Given the description of an element on the screen output the (x, y) to click on. 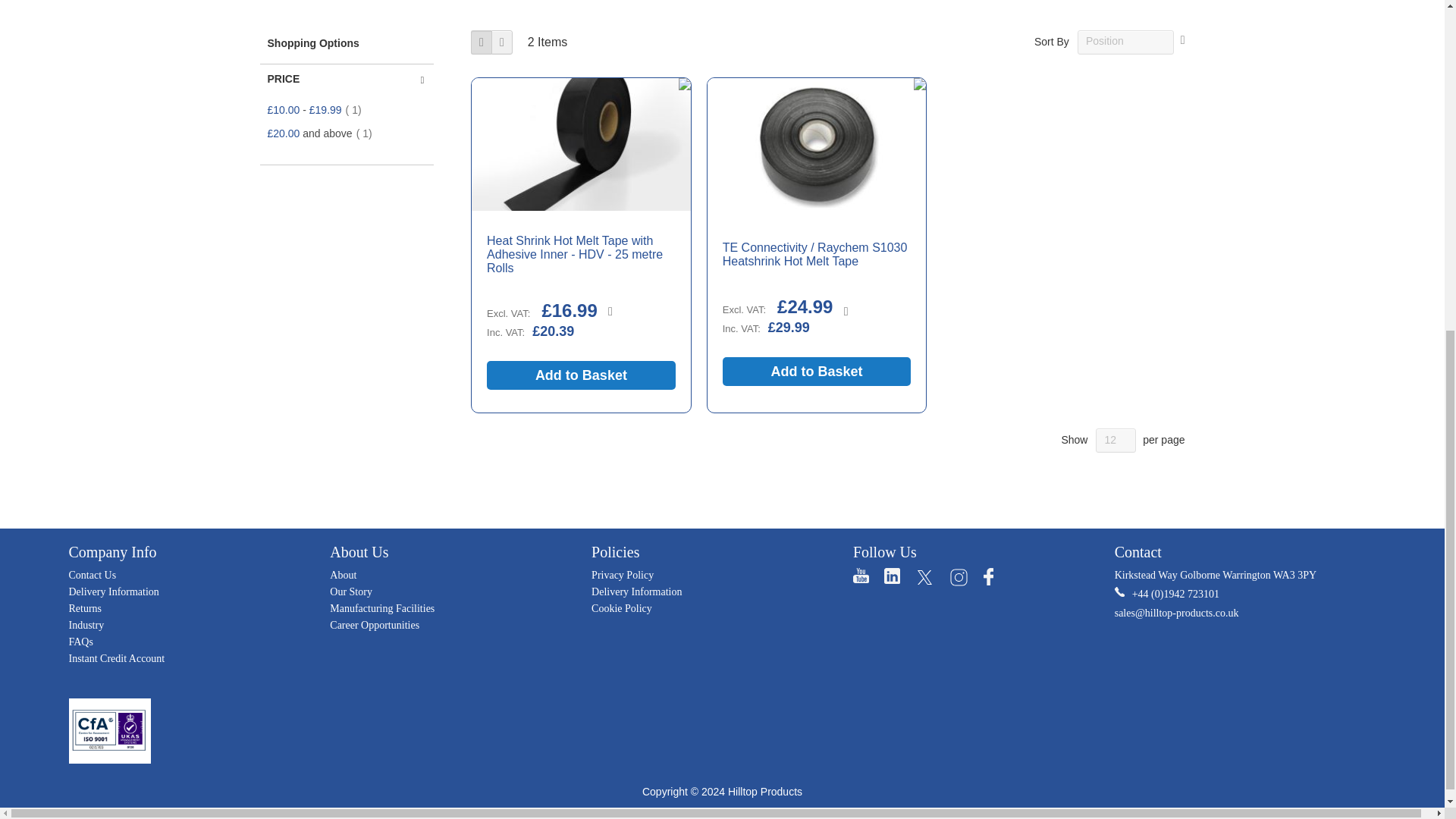
Add to Compare (845, 311)
Grid (481, 42)
Add to Compare (610, 311)
List (502, 42)
Add to Basket (816, 371)
Add to Basket (580, 375)
Set Descending Direction (1182, 40)
